Given the description of an element on the screen output the (x, y) to click on. 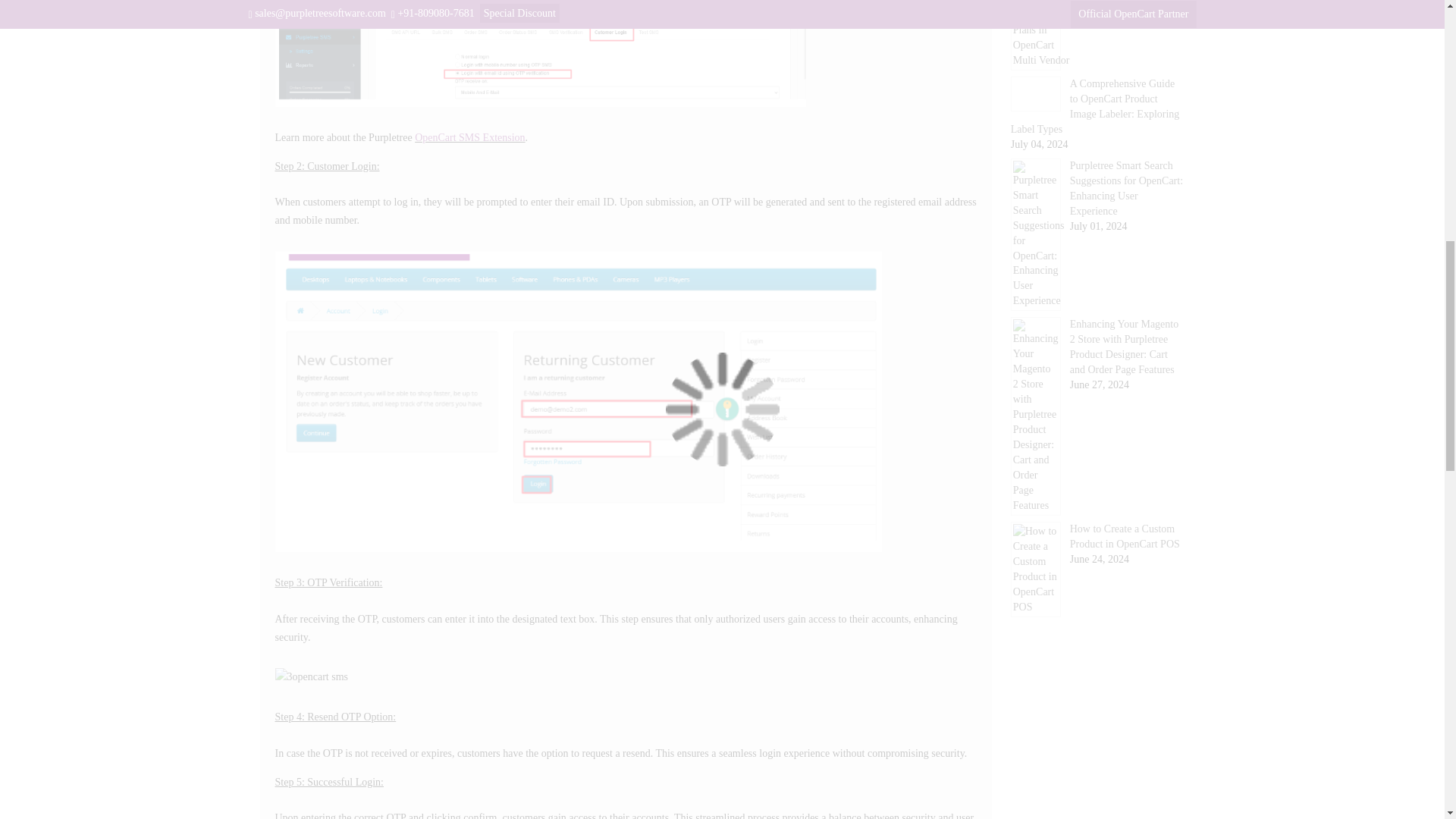
OpenCart SMS Extension (469, 137)
